Given the description of an element on the screen output the (x, y) to click on. 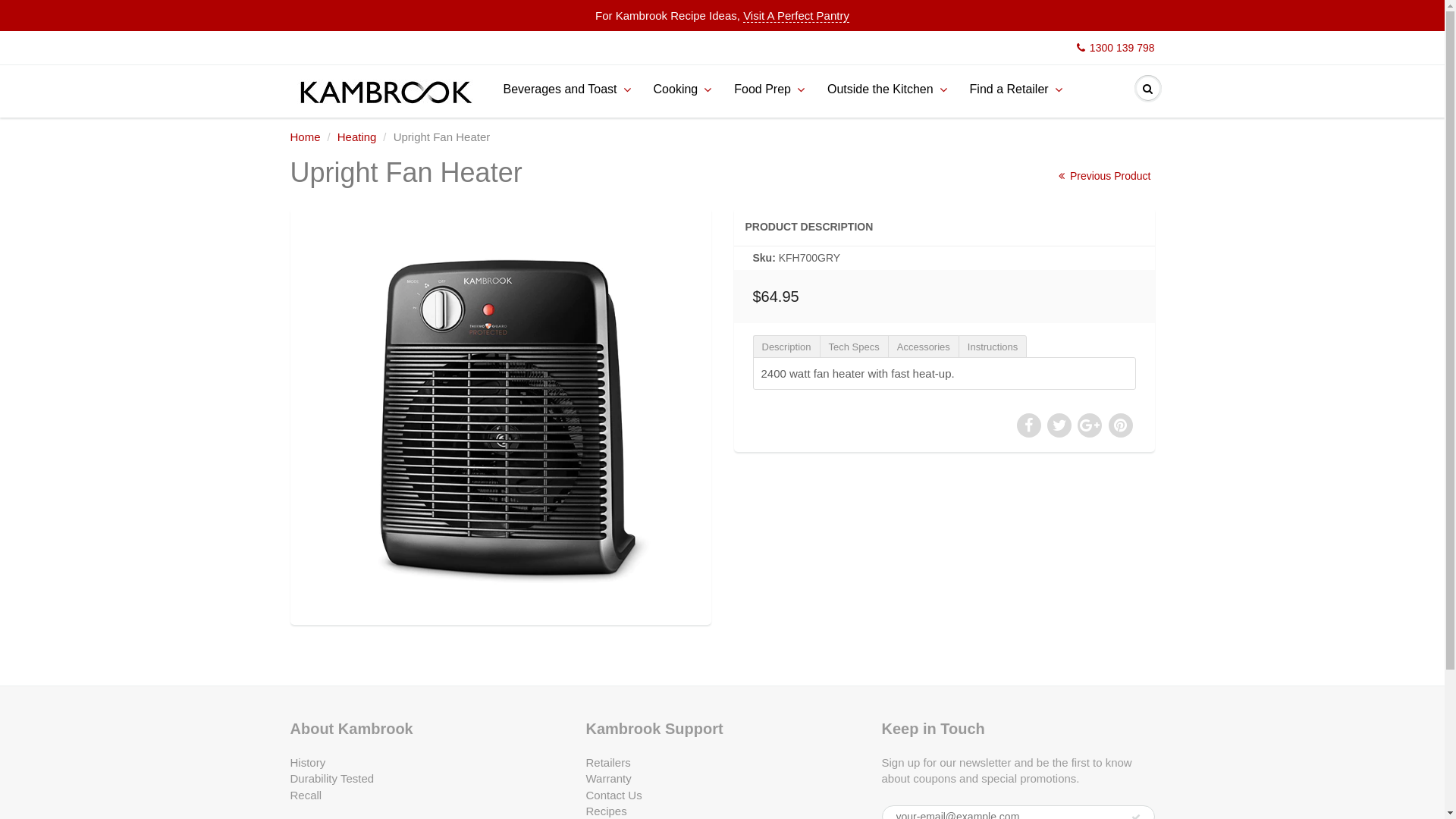
Heating Element type: text (356, 136)
Beverages and Toast Element type: text (566, 88)
Upright Fan Heater Element type: hover (500, 413)
Contact Us Element type: text (613, 794)
Recipes Element type: text (605, 810)
Accessories Element type: text (923, 346)
Find a Retailer Element type: text (1015, 88)
Description Element type: text (785, 346)
Food Prep Element type: text (768, 88)
Warranty Element type: text (607, 777)
Cooking Element type: text (682, 88)
Instructions Element type: text (992, 346)
Tech Specs Element type: text (853, 346)
Previous Product Element type: text (1103, 175)
Outside the Kitchen Element type: text (886, 88)
Home Element type: text (304, 136)
Retailers Element type: text (607, 762)
Durability Tested Element type: text (331, 777)
Visit A Perfect Pantry Element type: text (796, 15)
Recall Element type: text (305, 794)
1300 139 798 Element type: text (1115, 47)
History Element type: text (307, 762)
